Given the description of an element on the screen output the (x, y) to click on. 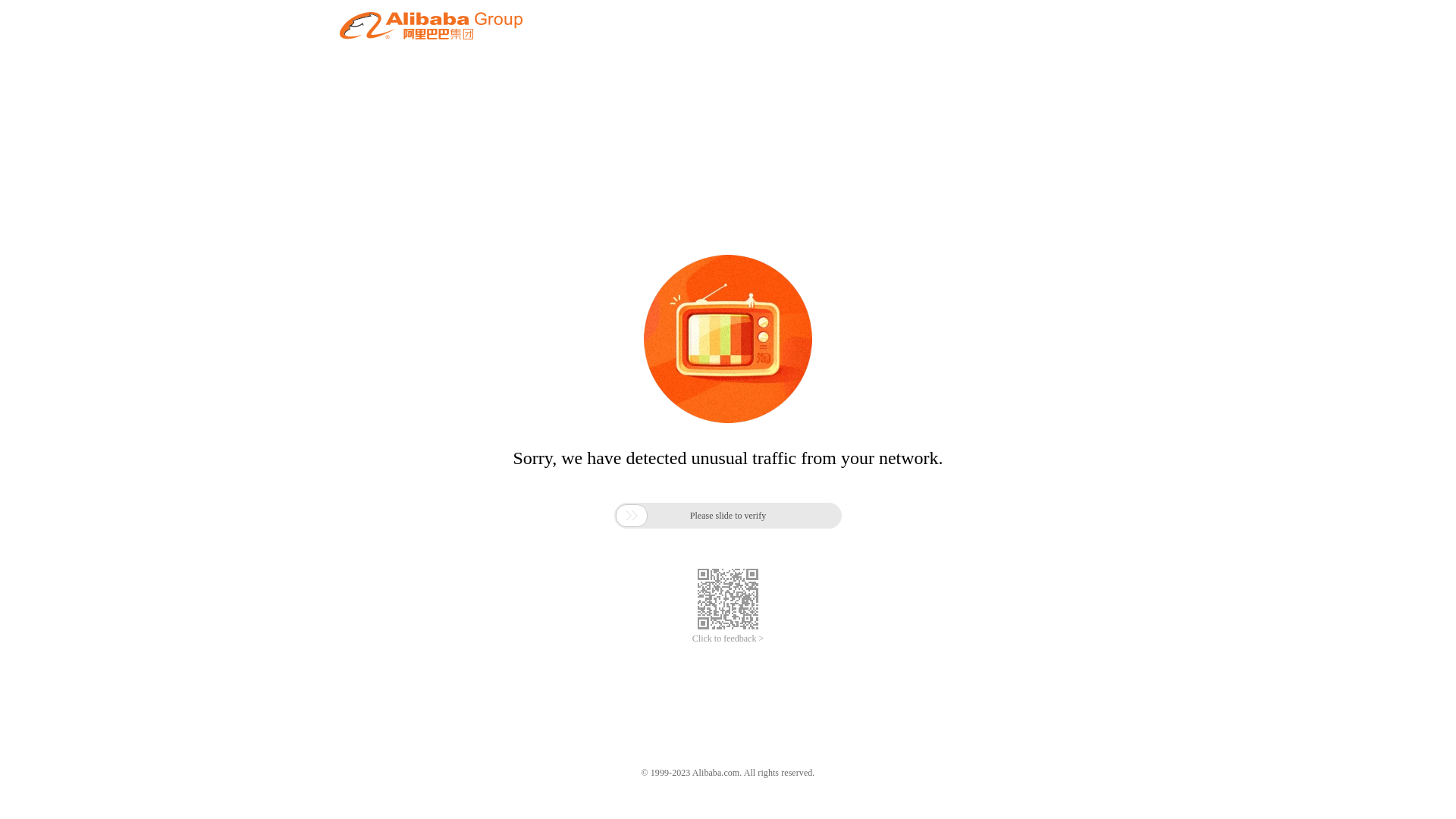
Click to feedback > Element type: text (727, 638)
